Given the description of an element on the screen output the (x, y) to click on. 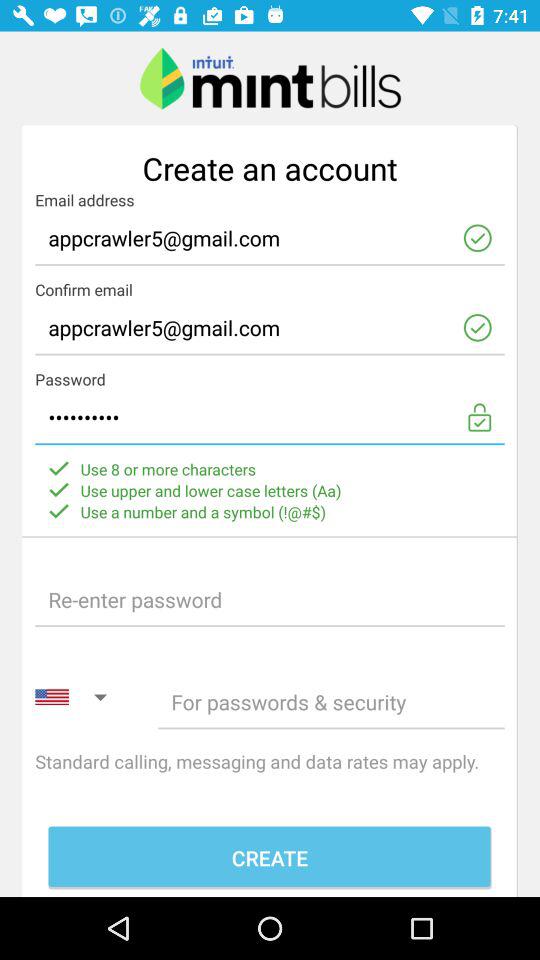
password box (331, 701)
